Given the description of an element on the screen output the (x, y) to click on. 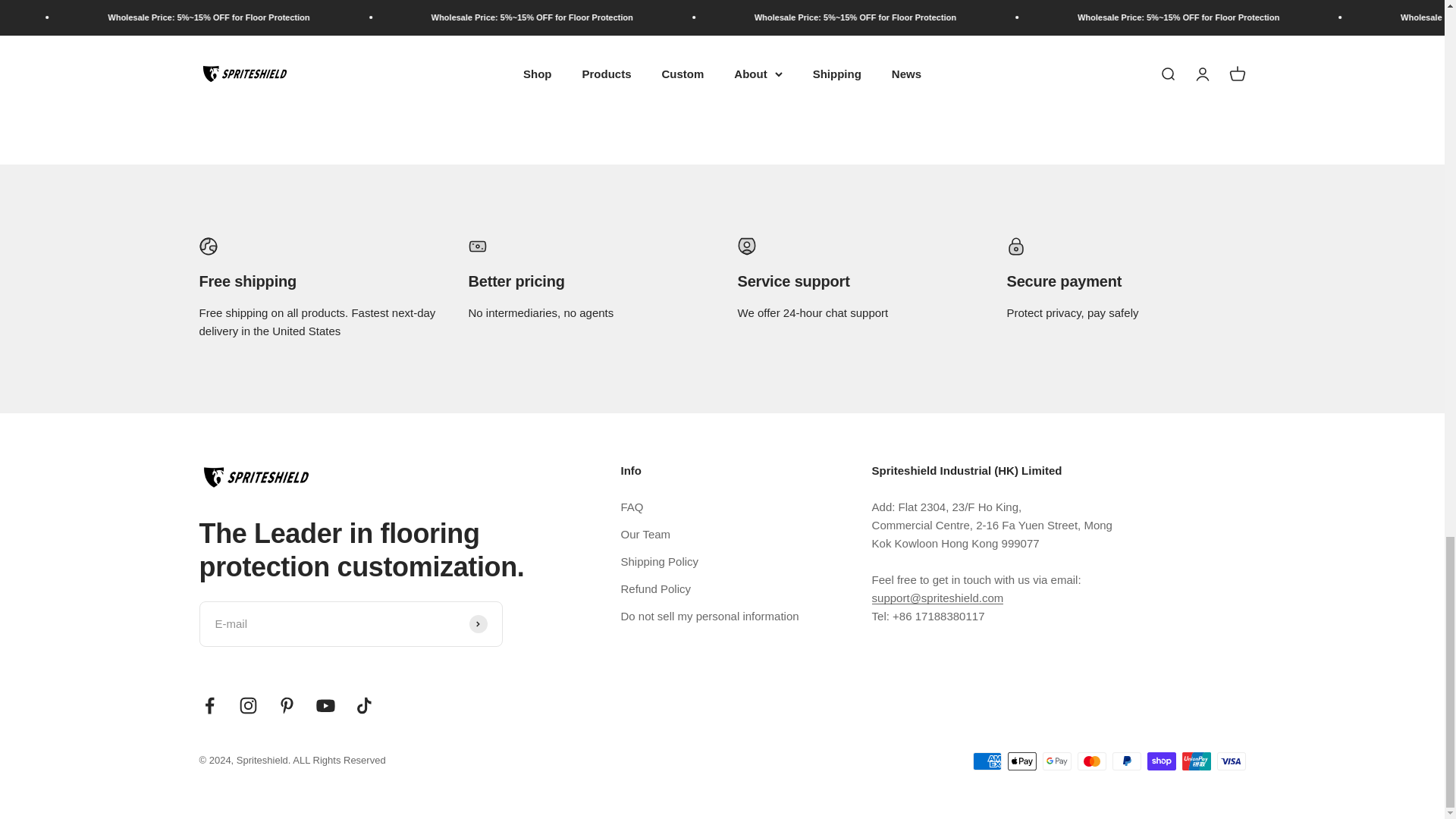
spriteshield floor protection (286, 705)
spriteshield floor protection (363, 705)
spriteshield floor protection (208, 705)
spriteshield floor protection (325, 705)
spriteshield floor protection (1202, 73)
